Given the description of an element on the screen output the (x, y) to click on. 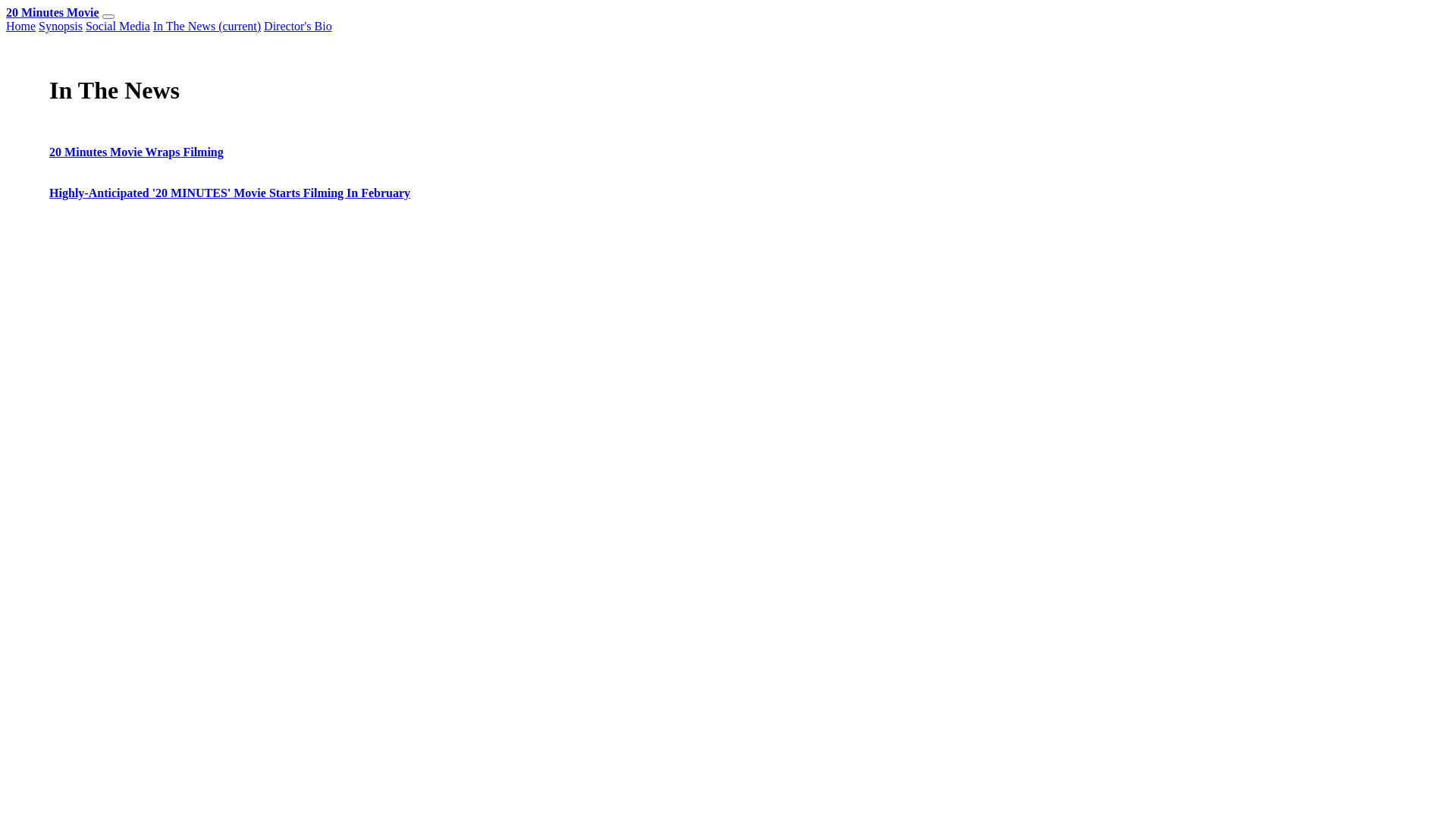
Social Media Element type: text (117, 25)
Synopsis Element type: text (60, 25)
In The News (current) Element type: text (206, 25)
20 Minutes Movie Wraps Filming Element type: text (136, 151)
20 Minutes Movie Element type: text (52, 12)
Home Element type: text (20, 25)
Director's Bio Element type: text (297, 25)
